Given the description of an element on the screen output the (x, y) to click on. 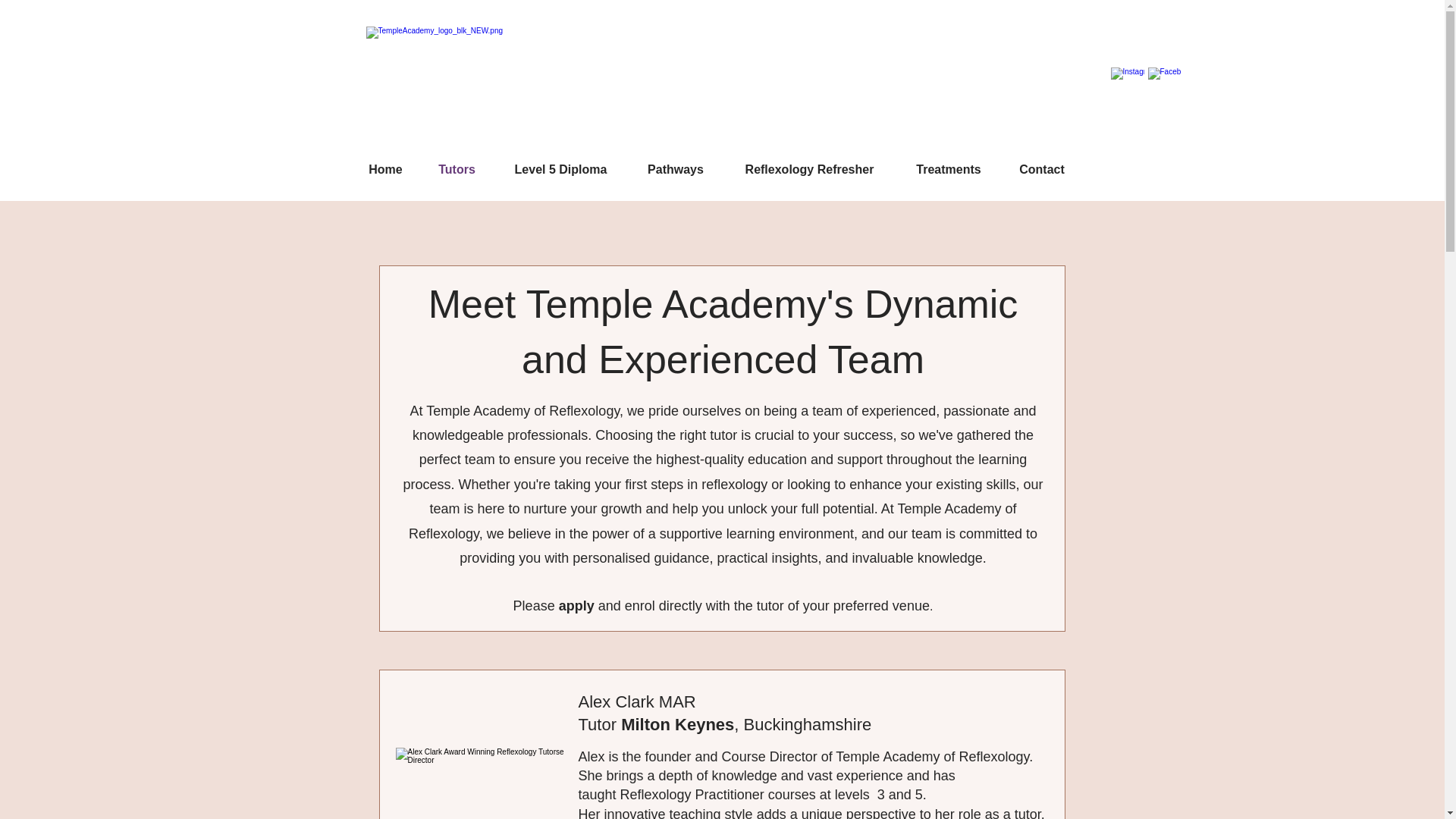
Contact (1041, 169)
Home (385, 169)
apply (578, 605)
Tutors (456, 169)
Level 5 Diploma (560, 169)
Pathways (674, 169)
Milton Keynes (677, 723)
Treatments (948, 169)
Temple Academy of Reflexology delivering excellence (494, 87)
Reflexology Refresher (809, 169)
